Given the description of an element on the screen output the (x, y) to click on. 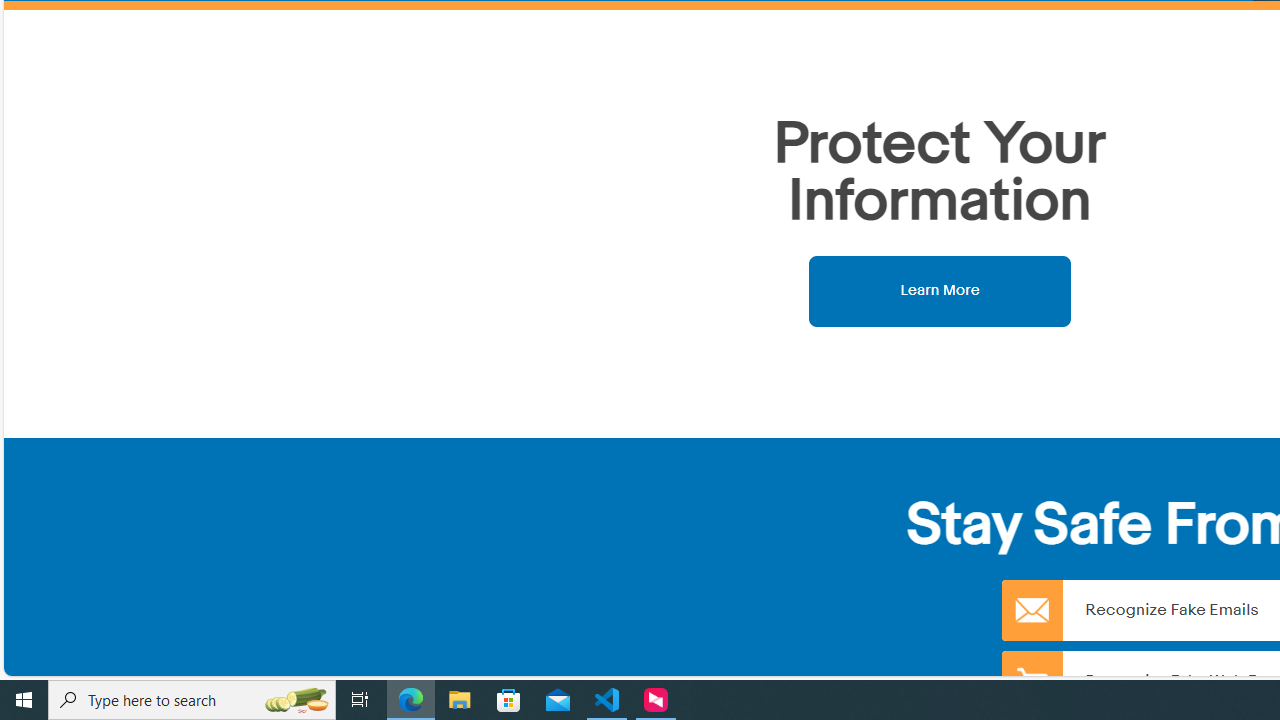
Learn More (939, 290)
